Given the description of an element on the screen output the (x, y) to click on. 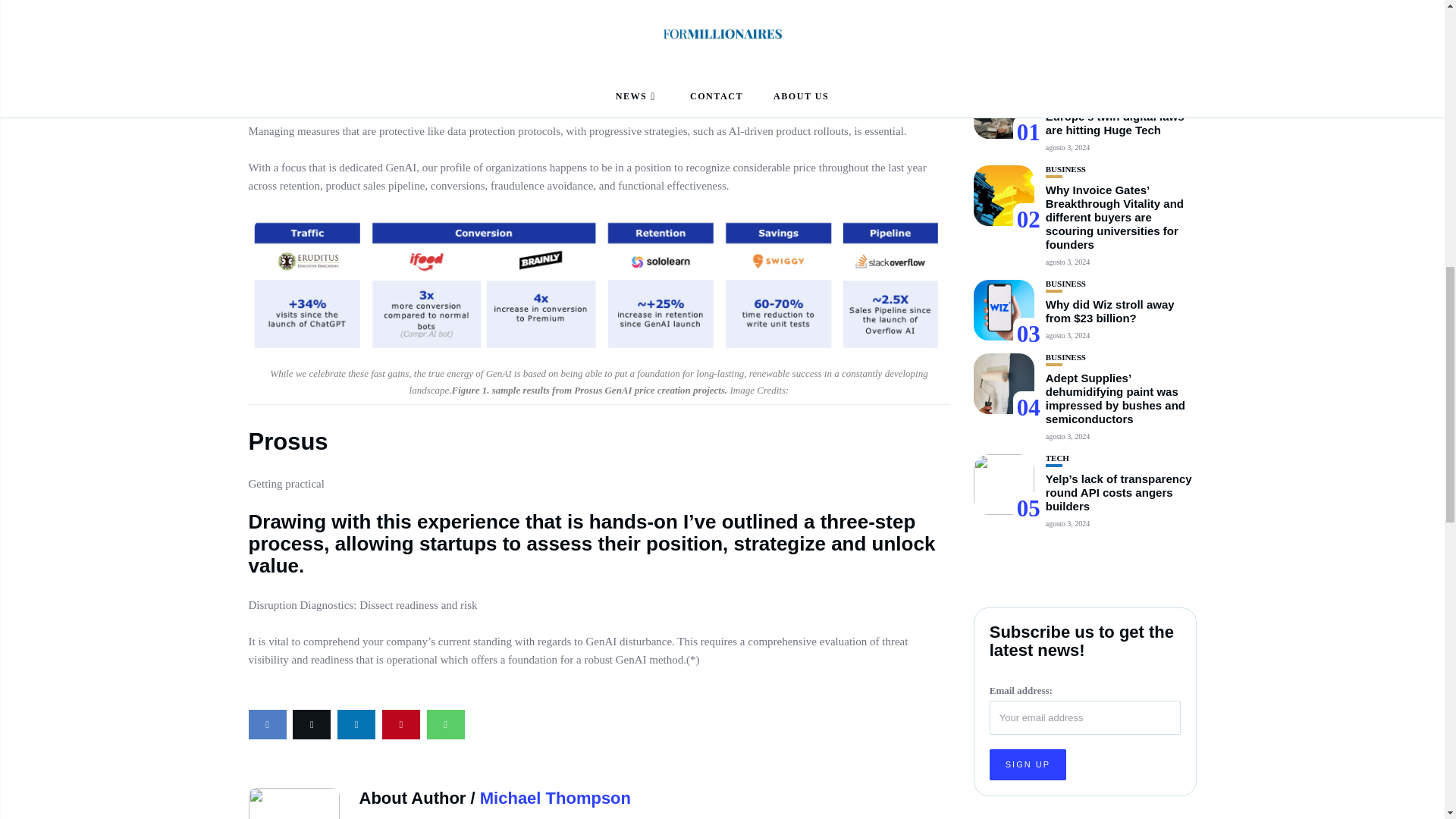
Entradas de Michael Thompson (555, 797)
Sign up (1027, 400)
facebook (267, 724)
Michael Thompson (555, 797)
